Given the description of an element on the screen output the (x, y) to click on. 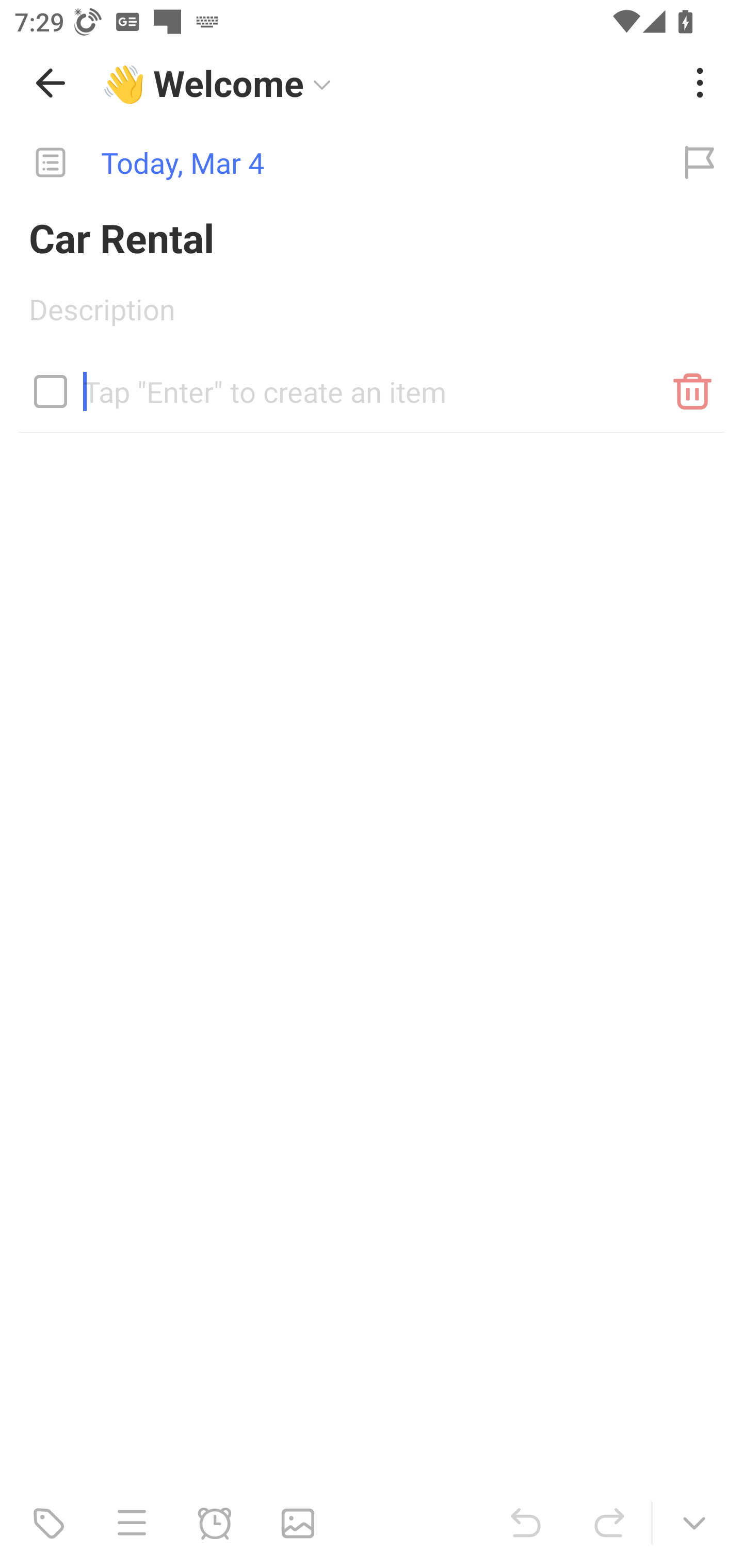
👋 Welcome (384, 82)
Today, Mar 4  (328, 163)
Car Rental (371, 237)
Description (371, 315)
  (50, 390)
Tap "Enter" to create an item (371, 383)
